Given the description of an element on the screen output the (x, y) to click on. 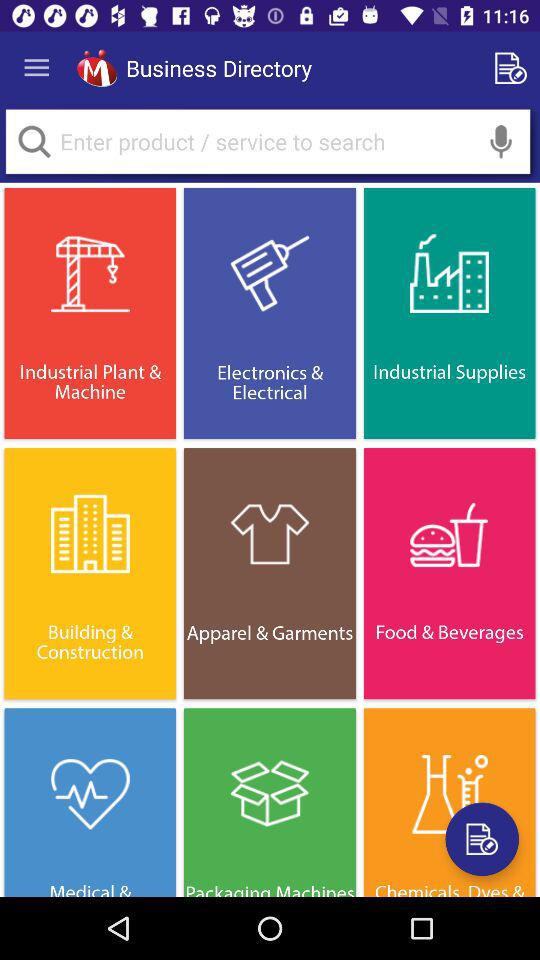
tap the app next to business directory app (96, 67)
